Given the description of an element on the screen output the (x, y) to click on. 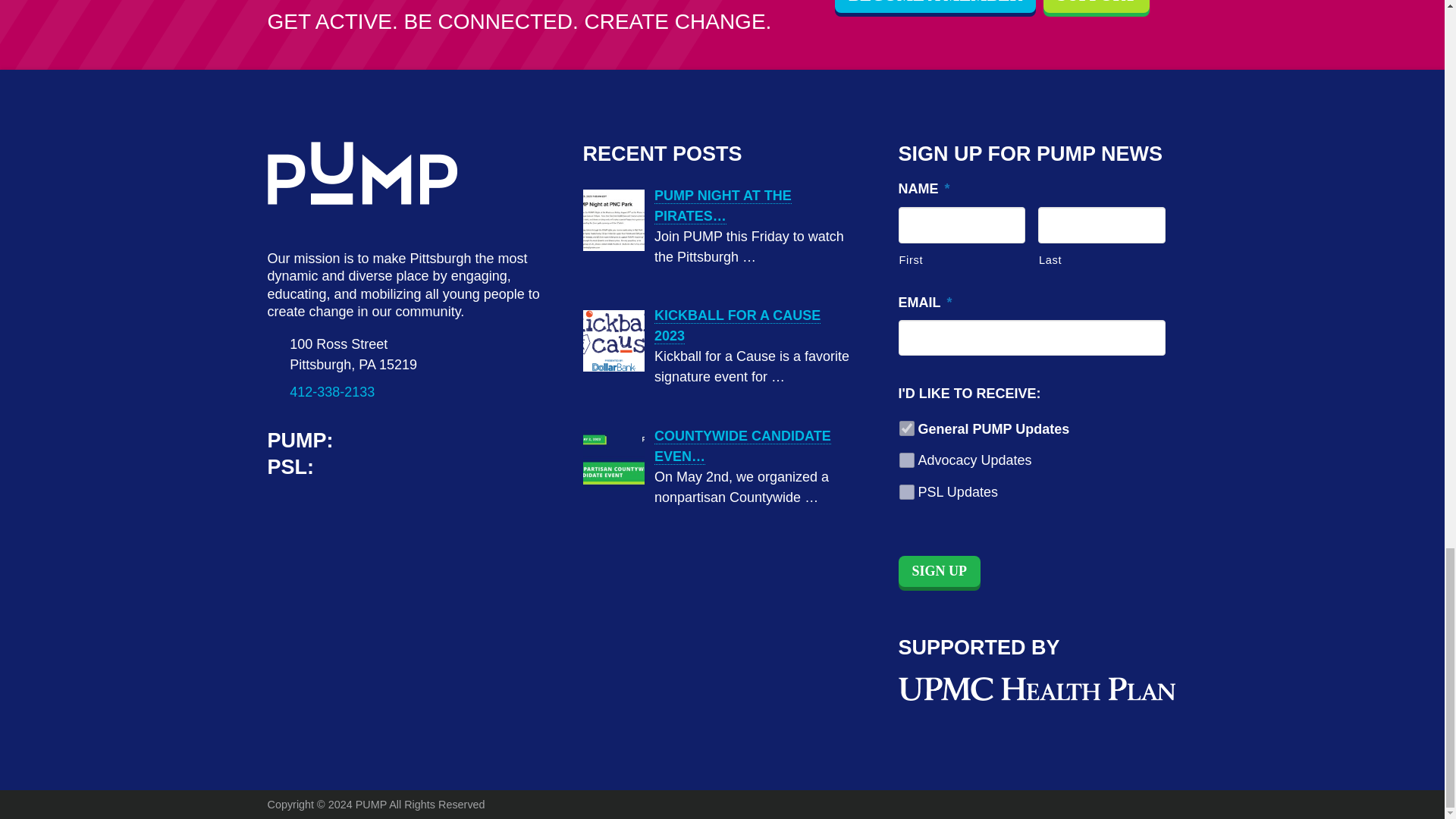
Sign Up (938, 571)
Advocacy Updates (906, 459)
General PUMP Updates (906, 427)
PSL Updates (906, 491)
